Given the description of an element on the screen output the (x, y) to click on. 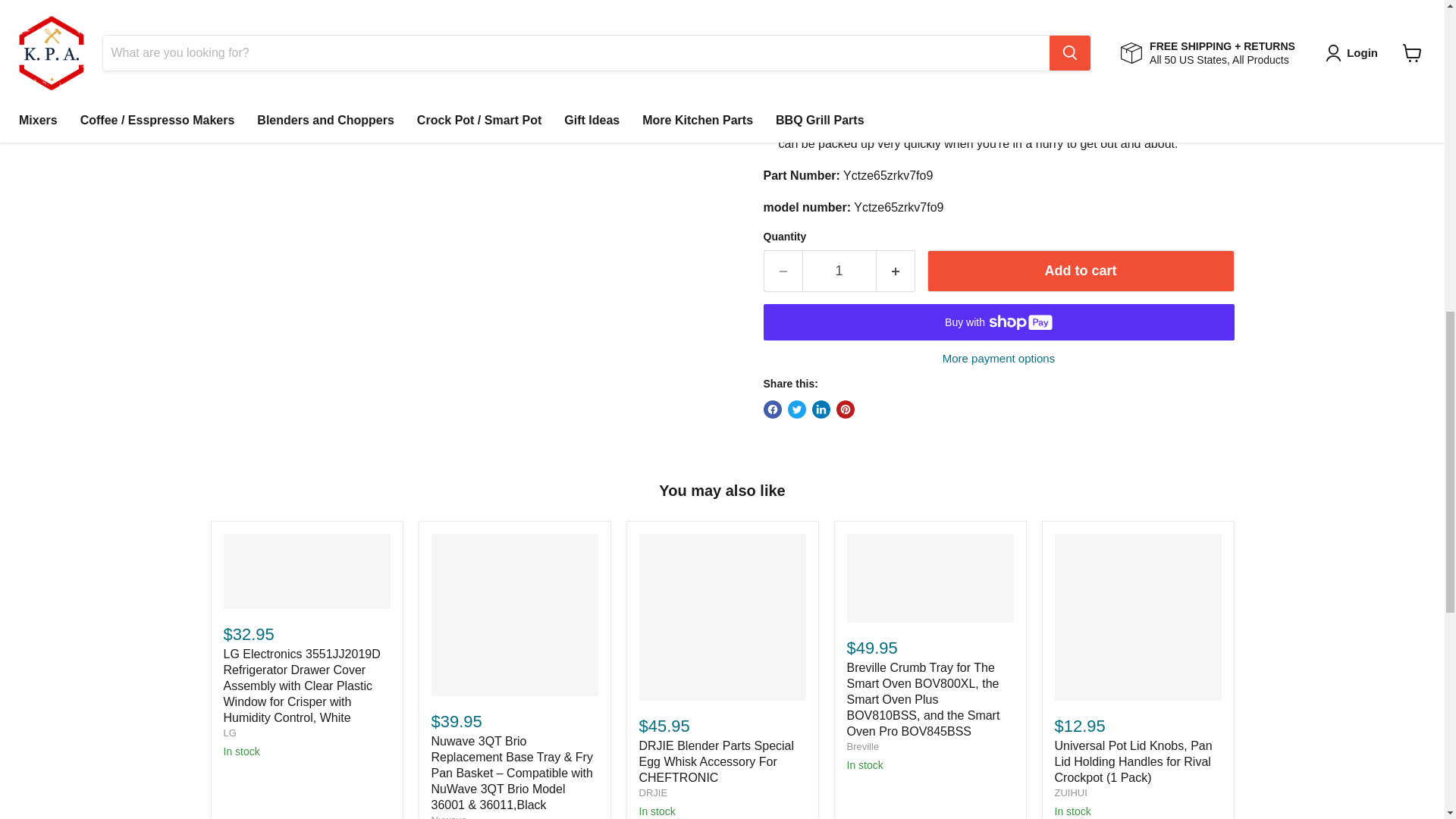
Breville (862, 746)
1 (839, 270)
Nuwave (447, 816)
DRJIE (652, 792)
ZUIHUI (1070, 792)
LG (228, 732)
